Given the description of an element on the screen output the (x, y) to click on. 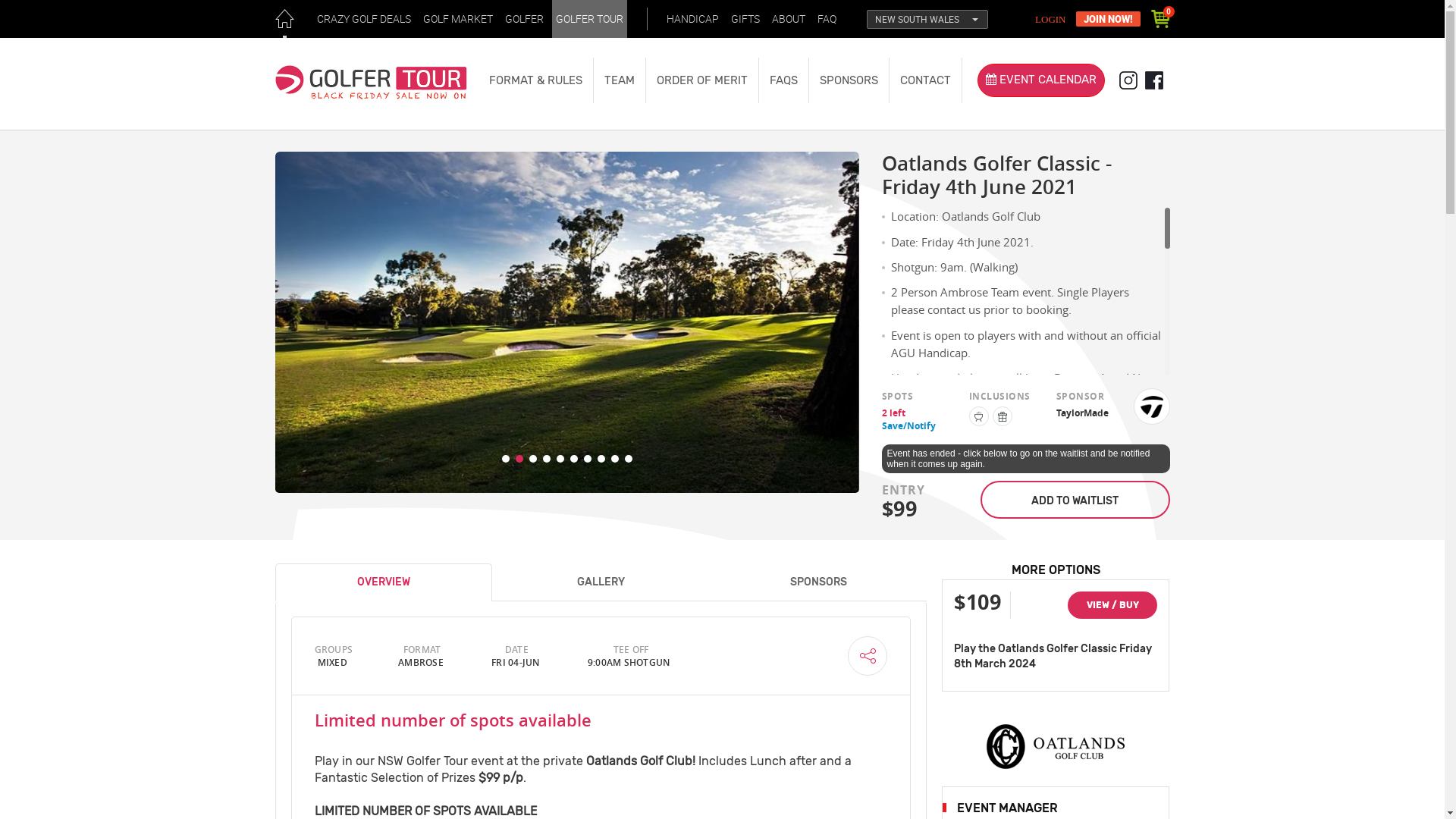
HANDICAP Element type: text (692, 18)
Ace Golf Gloves Element type: text (1008, 732)
VIEW / BUY Element type: text (1112, 604)
TEAM Element type: text (619, 80)
OVERVIEW Element type: text (383, 582)
CONTACT Element type: text (925, 80)
SPONSORS Element type: text (818, 582)
GOLFER TOUR Element type: text (589, 18)
GALLERY Element type: text (600, 582)
0 Element type: text (1160, 18)
ABOUT Element type: text (787, 18)
SPONSORS Element type: text (848, 80)
5 Element type: text (560, 458)
ADD TO WAITLIST Element type: text (1074, 498)
LOGIN Element type: text (1052, 19)
EZGO Element type: text (1012, 662)
GOLF MARKET Element type: text (456, 18)
JOIN NOW! Element type: text (1107, 18)
1 Element type: text (505, 458)
FAQS Element type: text (783, 80)
GOLFER Element type: text (523, 18)
ORDER OF MERIT Element type: text (701, 80)
CRAZY GOLF DEALS Element type: text (363, 18)
FORMAT & RULES Element type: text (535, 80)
Save/Notify Element type: text (908, 425)
NEW SOUTH WALES
  Element type: text (927, 18)
4 Element type: text (546, 458)
6 Element type: text (573, 458)
GIFTS Element type: text (744, 18)
Naked Wines Element type: text (1080, 715)
7 Element type: text (587, 458)
FAQ Element type: text (825, 18)
EVENT CALENDAR Element type: text (1040, 80)
10 Element type: text (628, 458)
2 Element type: text (519, 458)
9 Element type: text (614, 458)
3 Element type: text (532, 458)
8 Element type: text (601, 458)
